Given the description of an element on the screen output the (x, y) to click on. 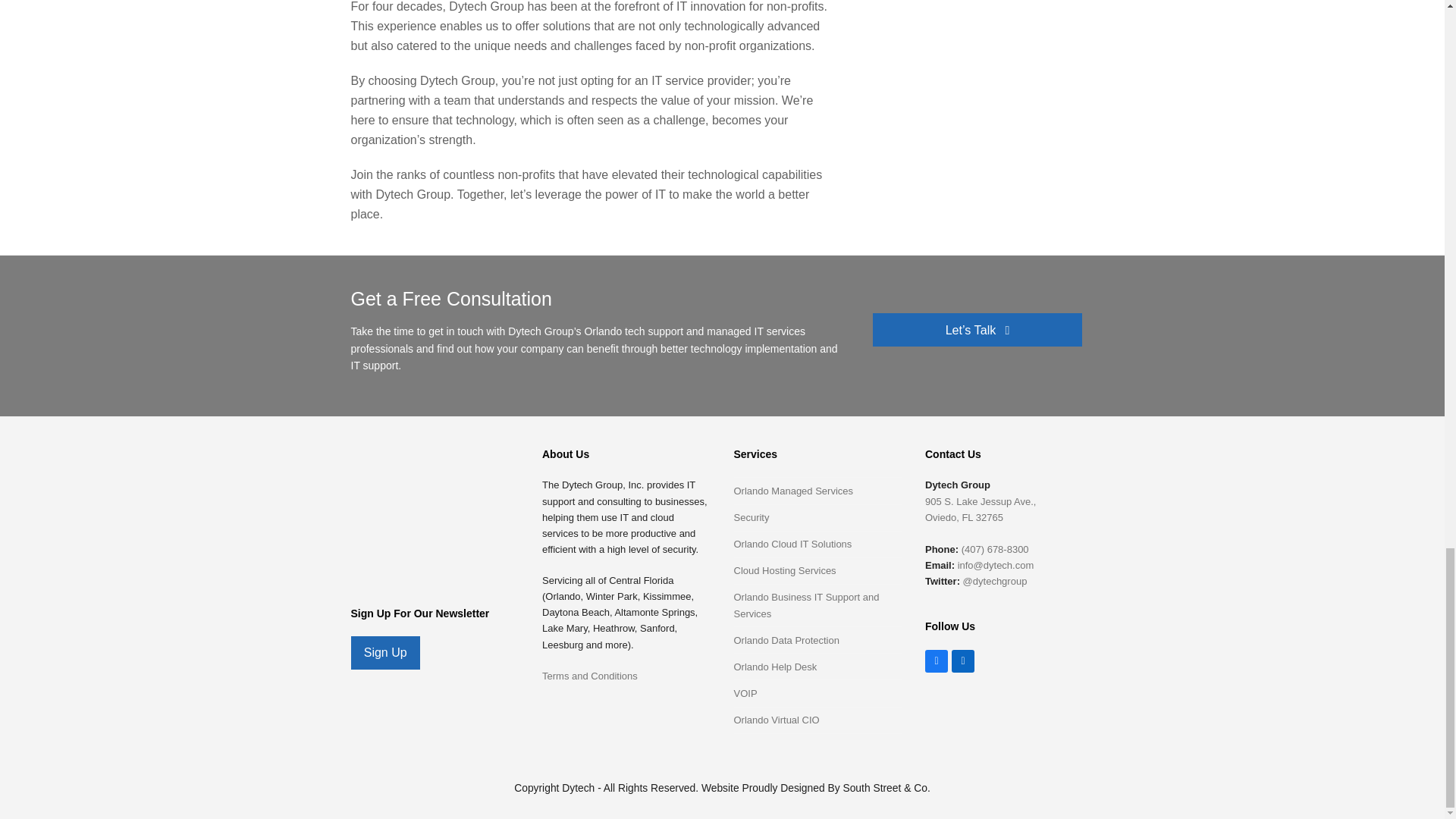
Facebook (935, 661)
Sign Up (384, 652)
LinkedIn (963, 661)
